Given the description of an element on the screen output the (x, y) to click on. 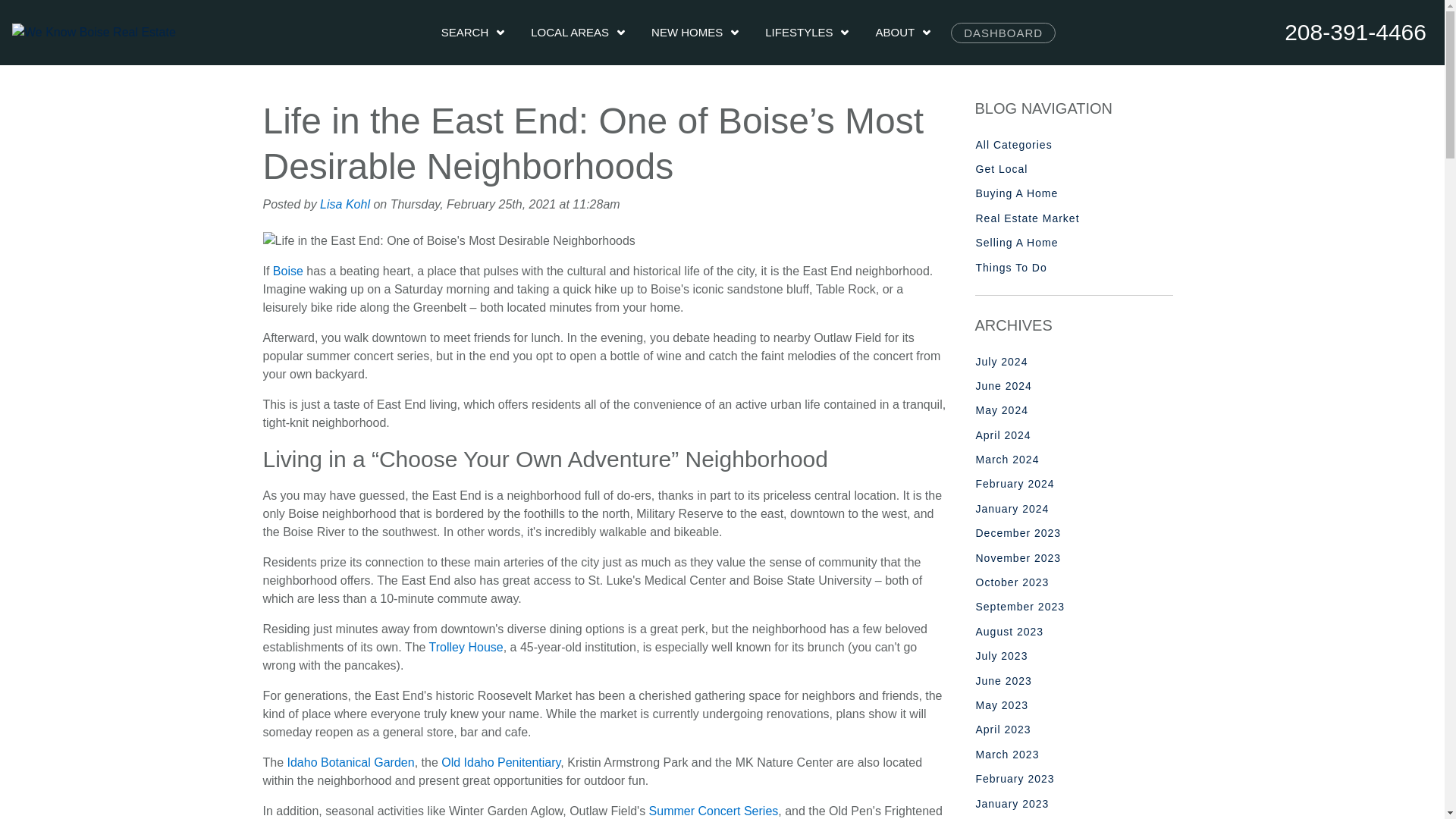
We Know Boise (93, 32)
208-391-4466 (1355, 32)
NEW HOMES (695, 32)
DASHBOARD (1002, 32)
Lisa Kohl (344, 204)
LOCAL AREAS (578, 32)
Opens and Closes My Account (1002, 32)
SEARCH (474, 32)
LIFESTYLES (807, 32)
ABOUT (903, 32)
